Given the description of an element on the screen output the (x, y) to click on. 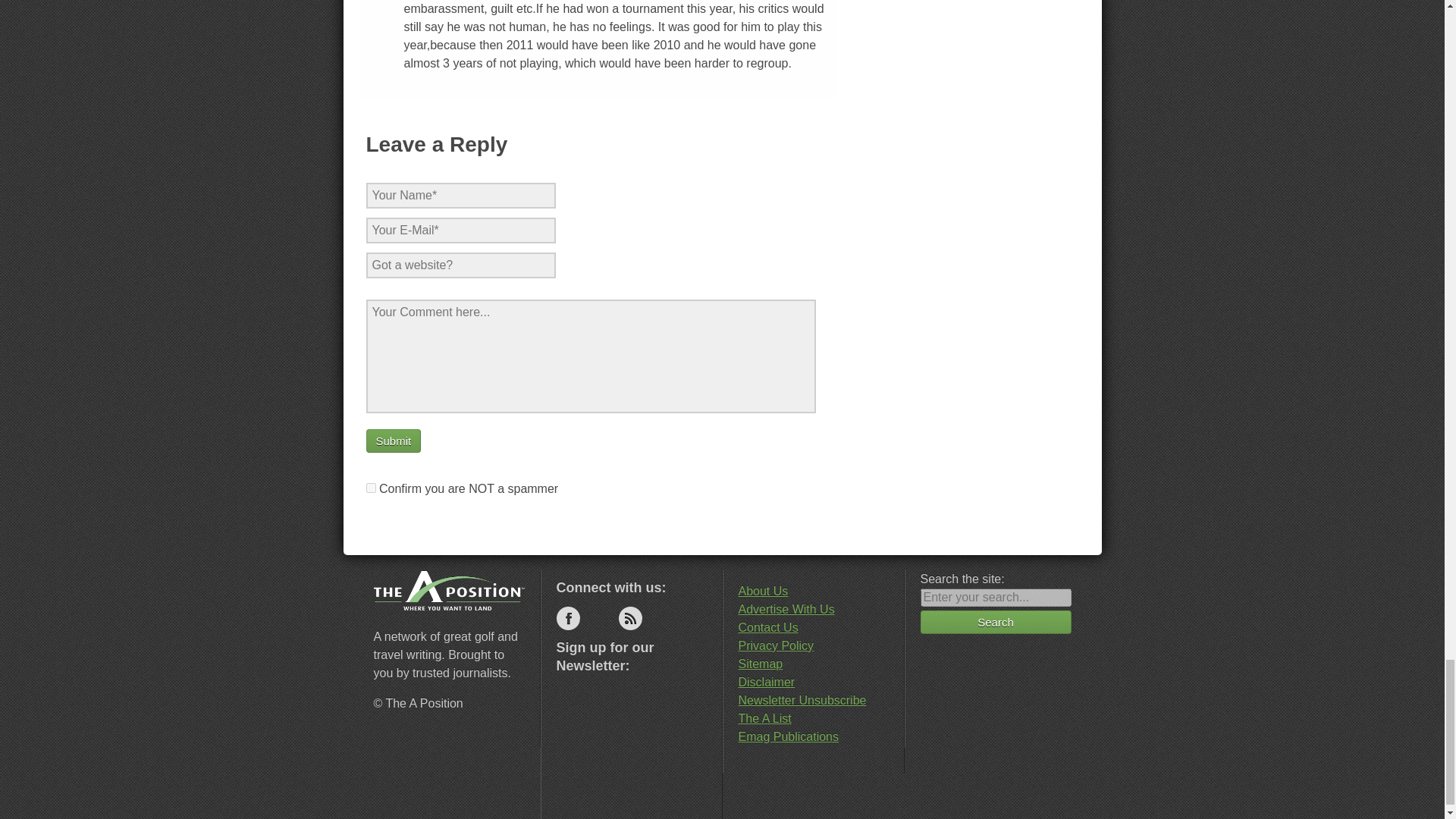
Submit (392, 440)
on (370, 488)
Search (995, 621)
